Given the description of an element on the screen output the (x, y) to click on. 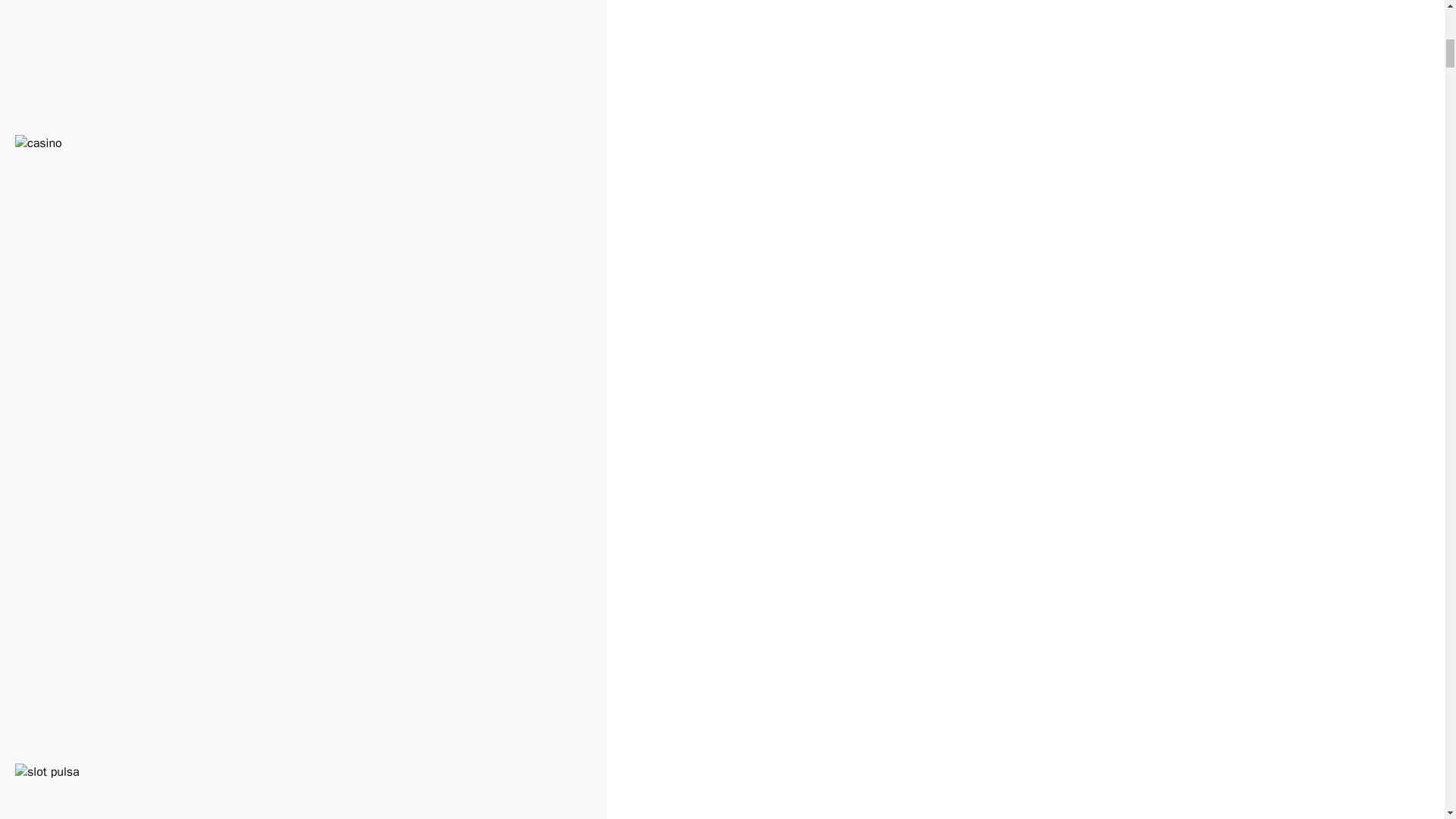
What Is a Casino? (79, 83)
Gambling (85, 43)
How to Choose a Slot Pulsa (117, 712)
Martienarichter (201, 113)
Martienarichter (201, 742)
Gambling (85, 672)
